Given the description of an element on the screen output the (x, y) to click on. 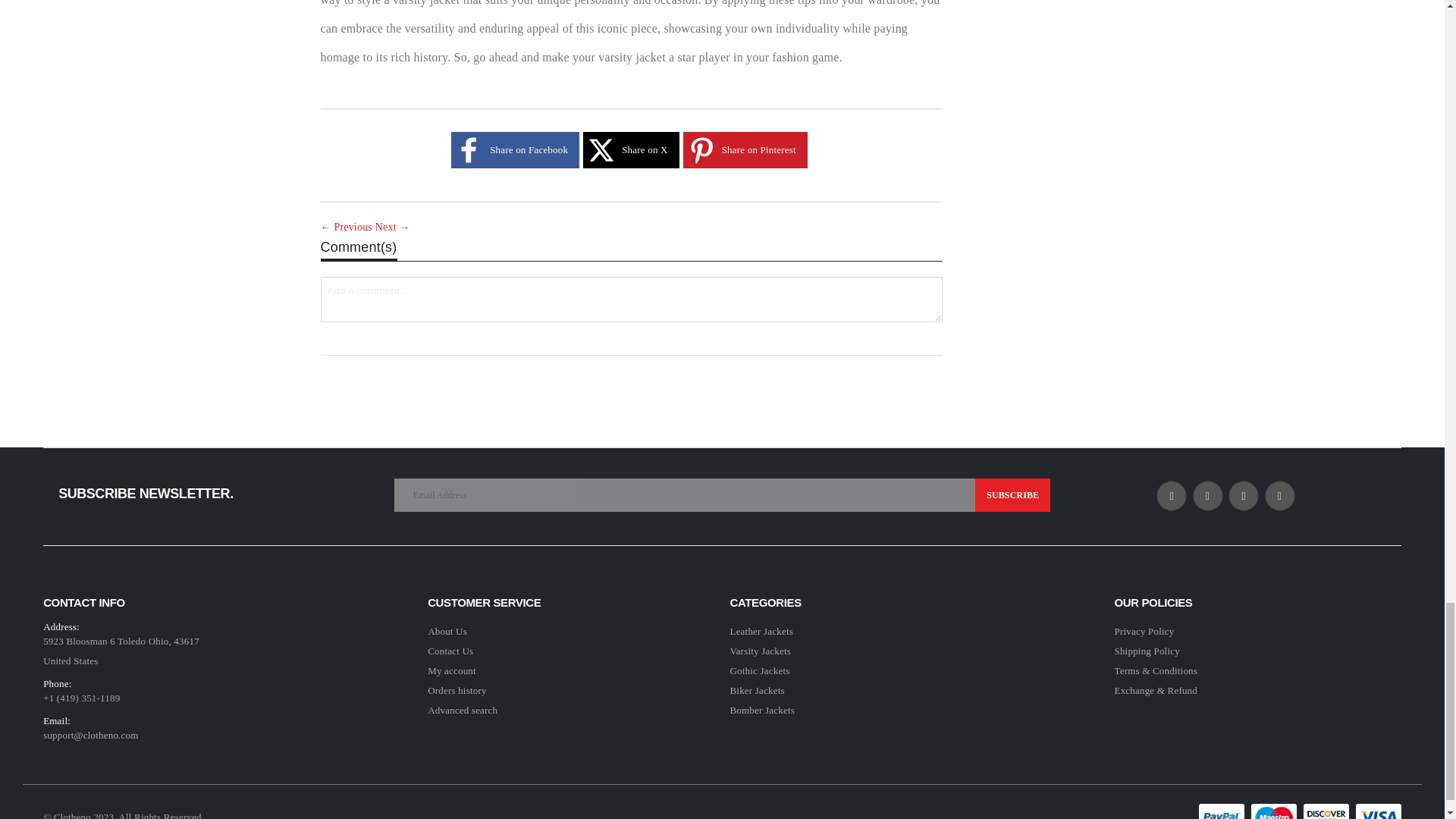
Share on X (601, 149)
Share on Pinterest (700, 149)
Share on Facebook (469, 149)
